Given the description of an element on the screen output the (x, y) to click on. 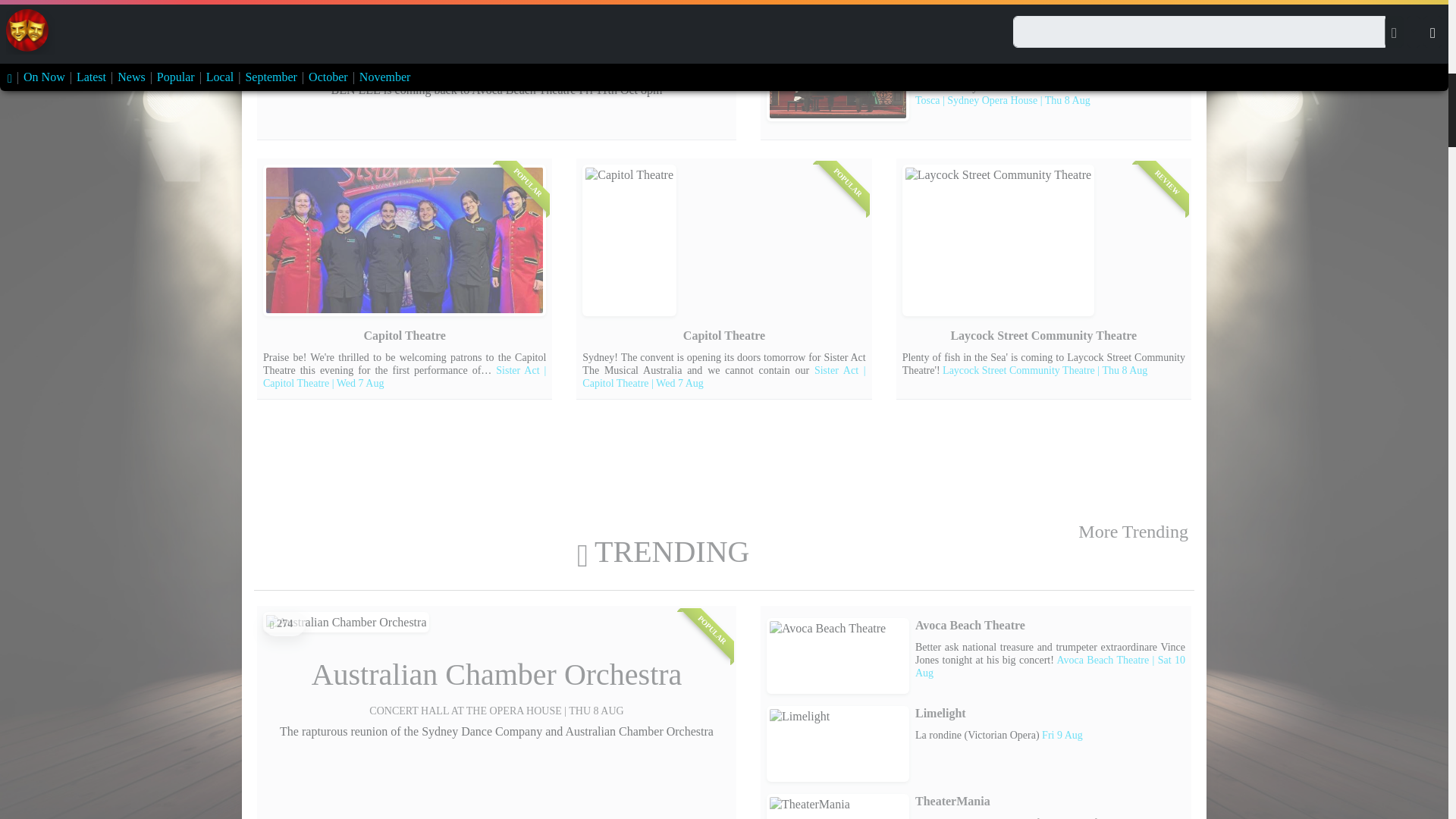
Capitol Theatre (404, 240)
Laycock Street Community Theatre (837, 16)
274 (284, 623)
More Trending (1133, 531)
Opera Australia (837, 83)
